Given the description of an element on the screen output the (x, y) to click on. 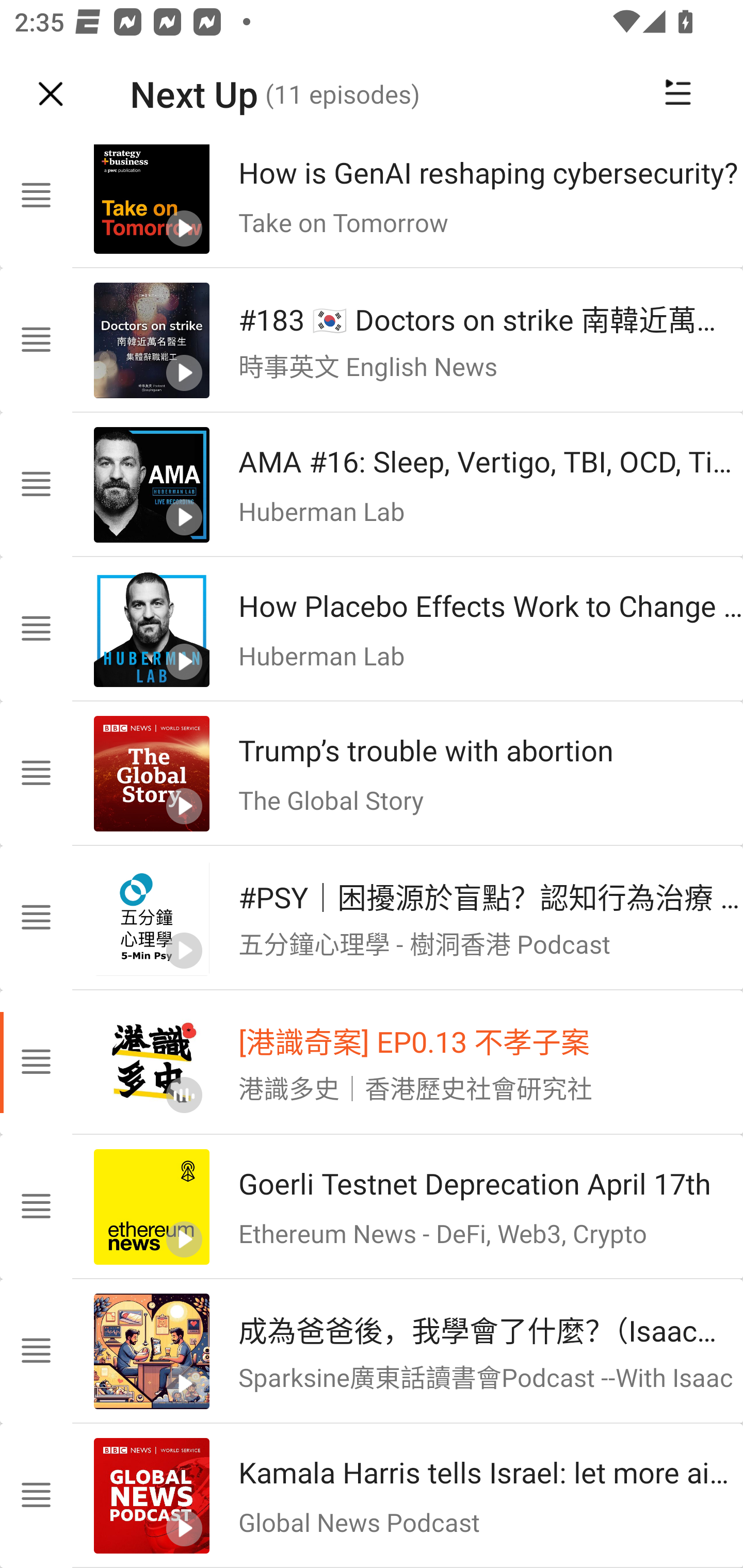
Navigate up (50, 93)
